Given the description of an element on the screen output the (x, y) to click on. 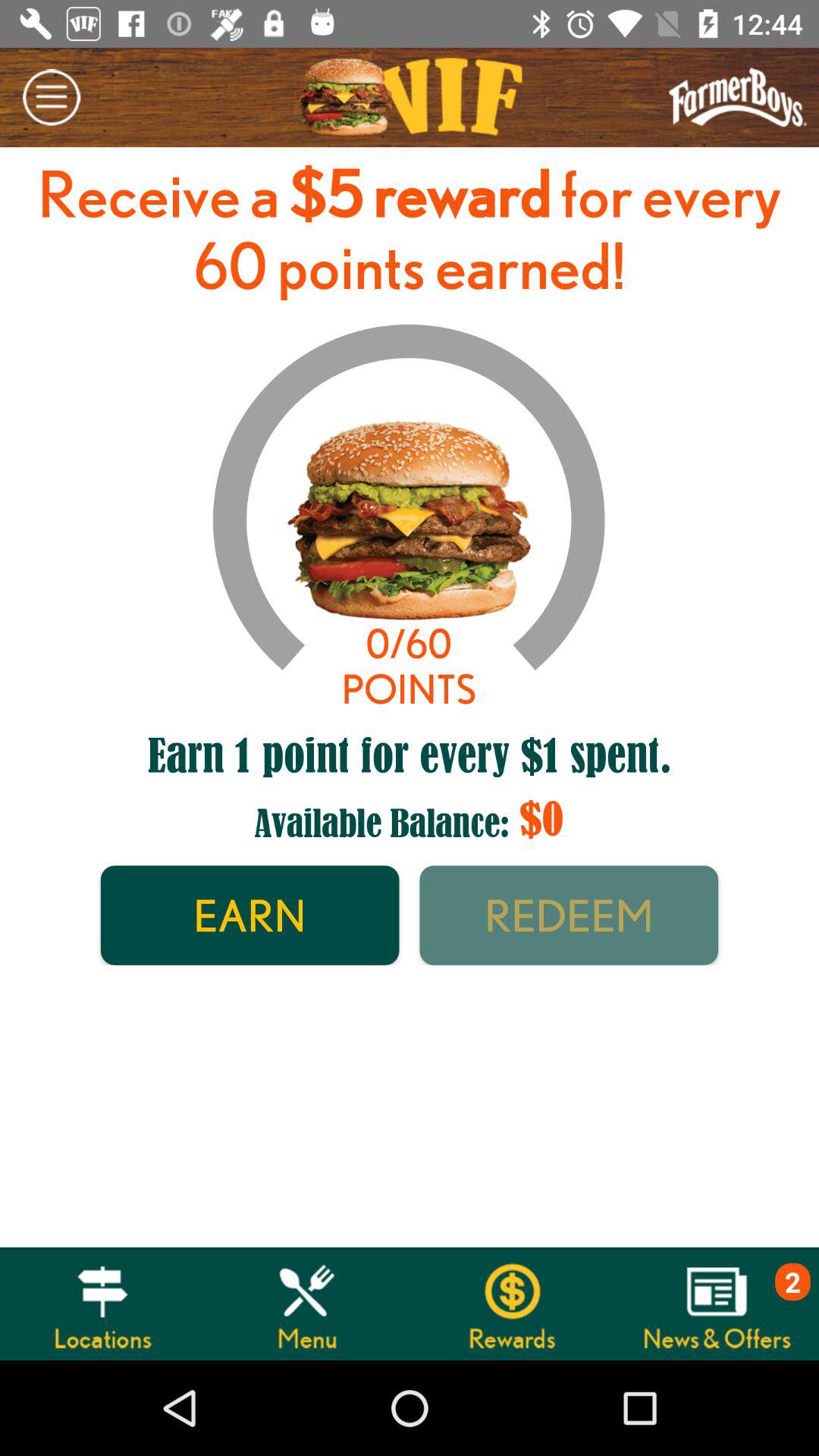
open icon to the right of the earn item (568, 915)
